Given the description of an element on the screen output the (x, y) to click on. 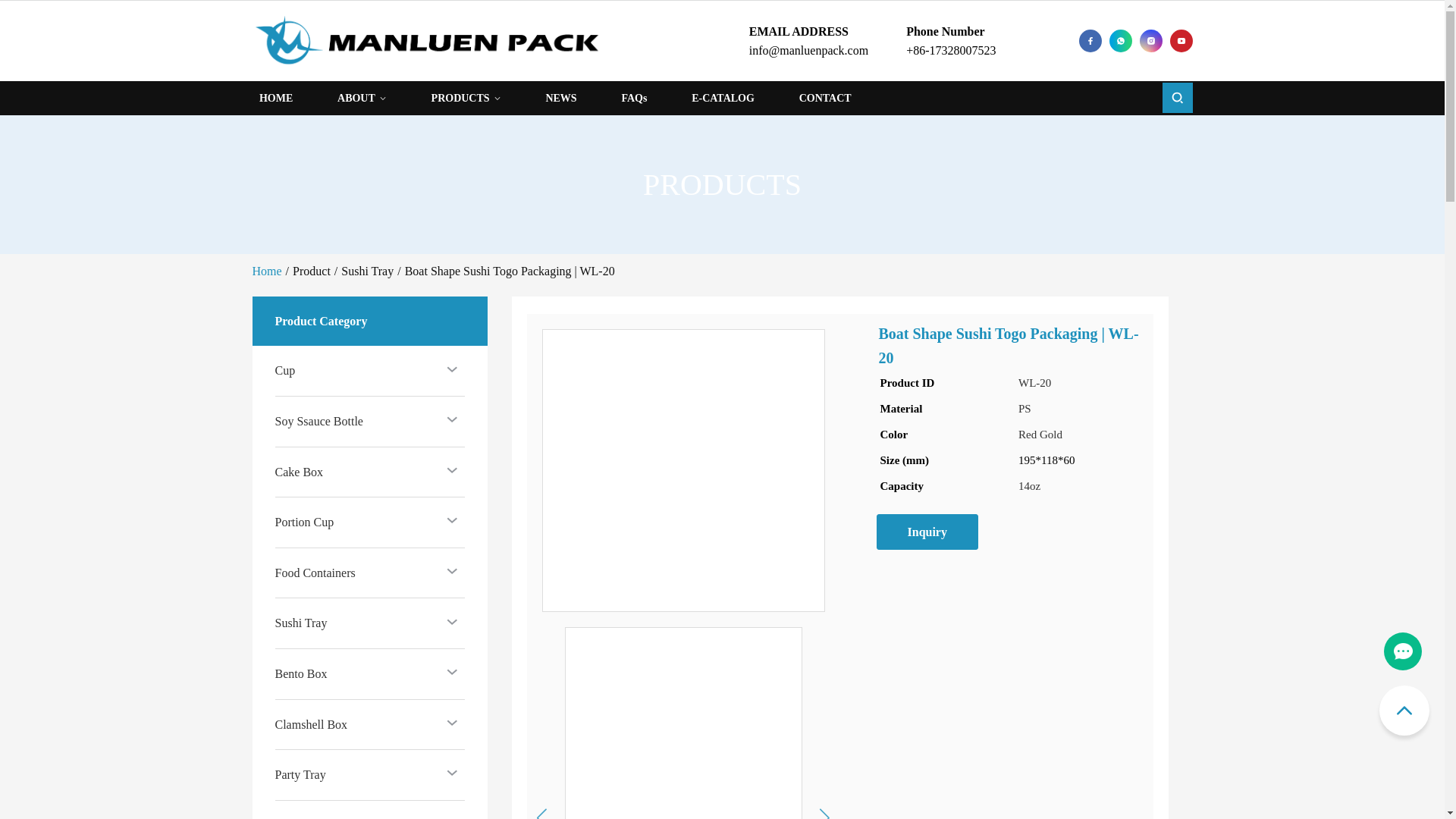
HOME (274, 98)
Soy Ssauce Bottle (318, 421)
Sushi Tray (366, 270)
whatsapp (1119, 40)
Home (266, 270)
ABOUT (362, 98)
FAQs (633, 98)
instagram (1149, 40)
CONTACT (824, 98)
E-CATALOG (723, 98)
facebook (1089, 40)
Product (311, 270)
Cup (285, 370)
PRODUCTS (465, 98)
youtube (1180, 40)
